Given the description of an element on the screen output the (x, y) to click on. 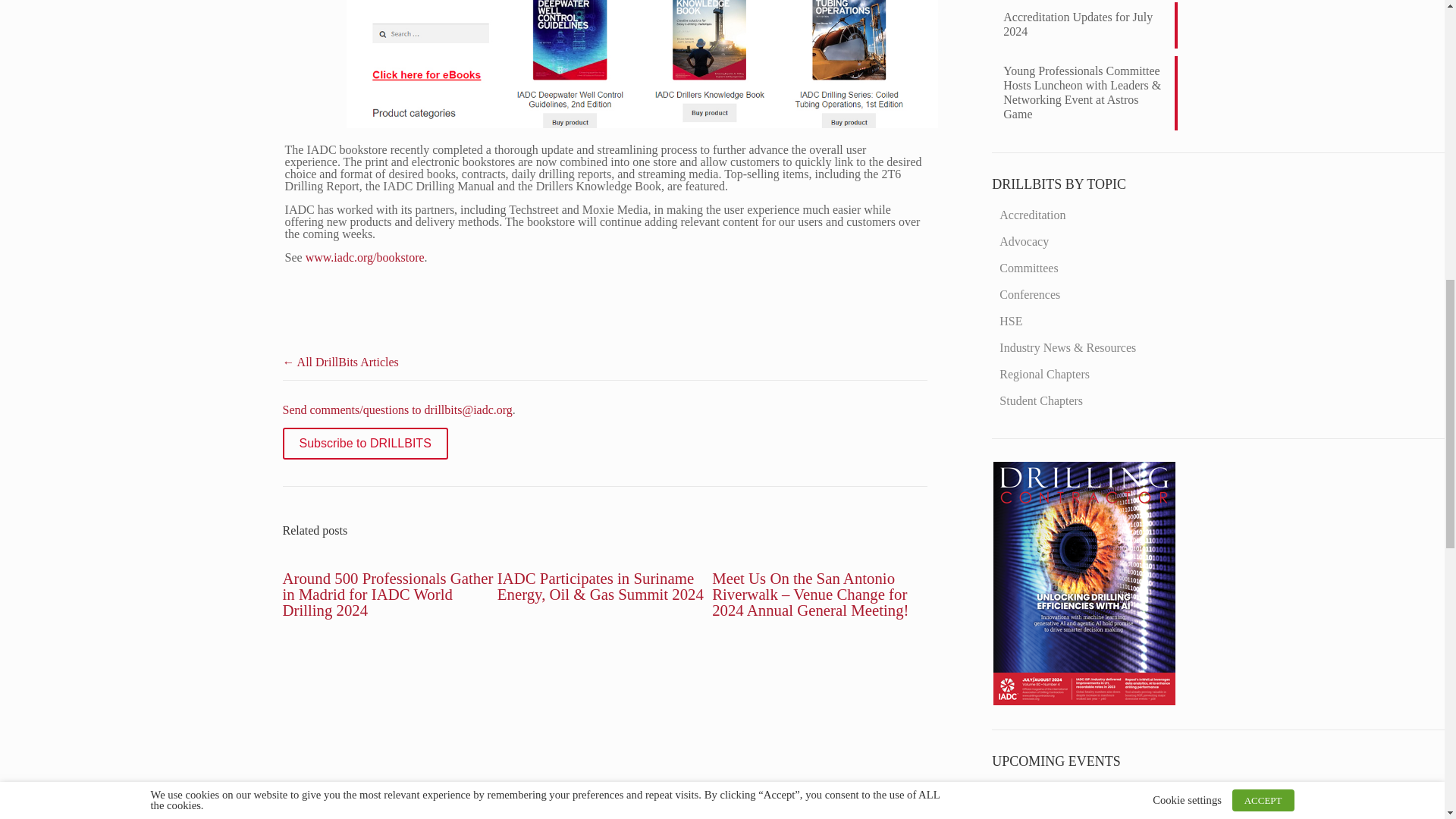
Recent Drilling News (1083, 700)
